Given the description of an element on the screen output the (x, y) to click on. 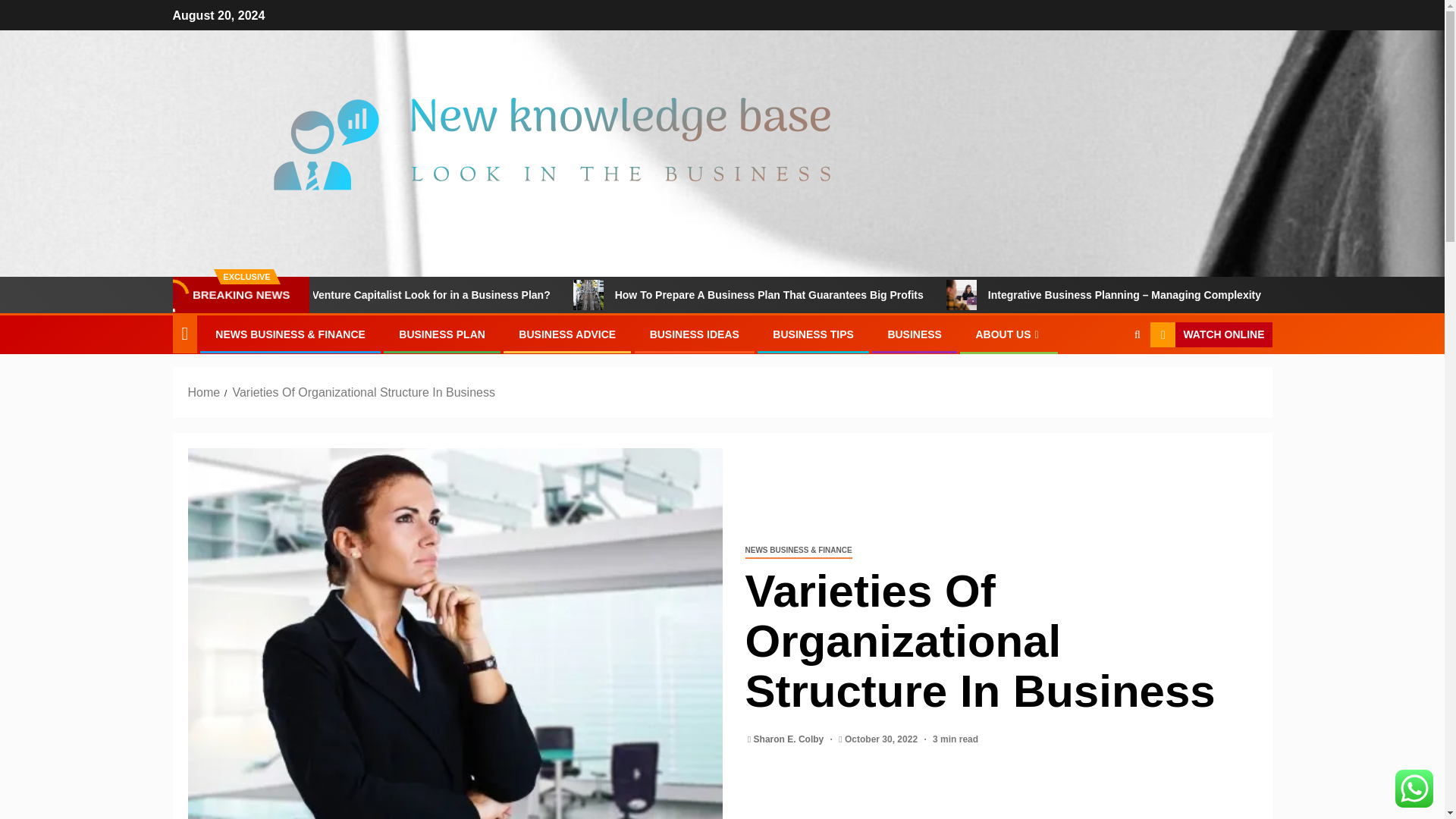
WATCH ONLINE (1210, 335)
BUSINESS PLAN (441, 334)
BUSINESS TIPS (813, 334)
ABOUT US (1008, 334)
BUSINESS IDEAS (694, 334)
How To Prepare A Business Plan That Guarantees Big Profits (664, 295)
Search (1107, 380)
How To Prepare A Business Plan That Guarantees Big Profits (867, 295)
BUSINESS (914, 334)
